Given the description of an element on the screen output the (x, y) to click on. 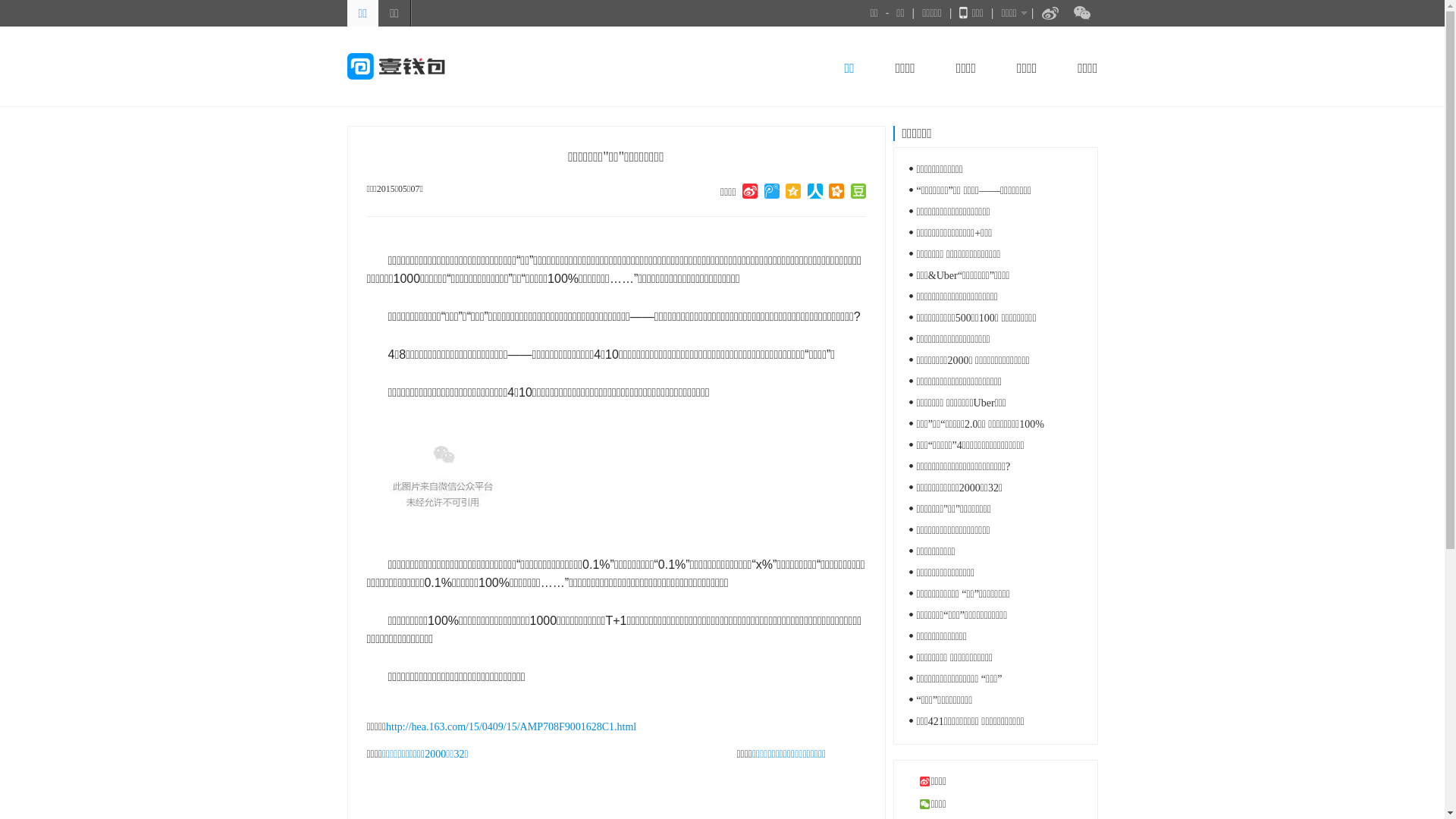
http://hea.163.com/15/0409/15/AMP708F9001628C1.html Element type: text (510, 726)
